Given the description of an element on the screen output the (x, y) to click on. 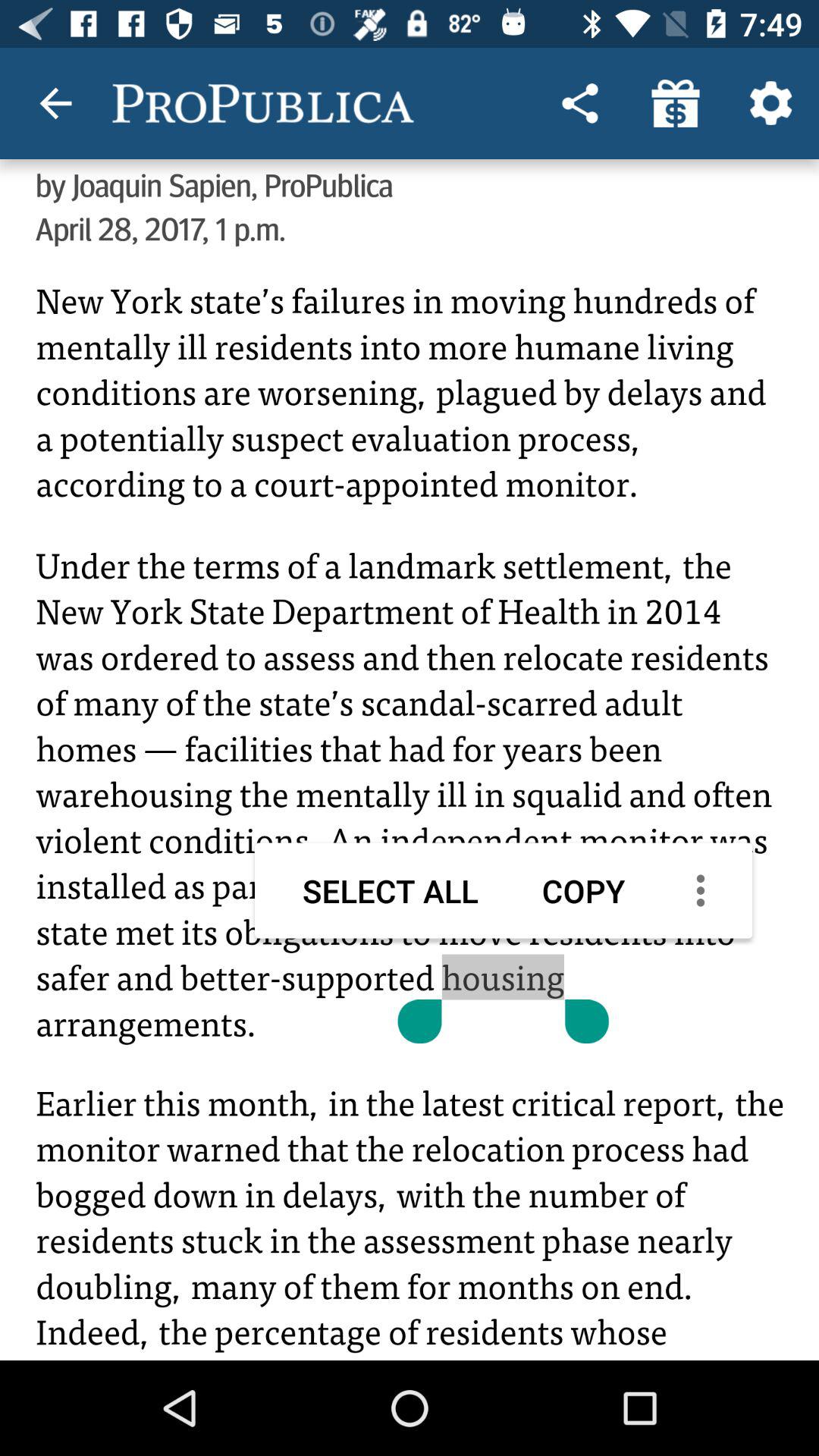
click select all or copy (409, 804)
